Given the description of an element on the screen output the (x, y) to click on. 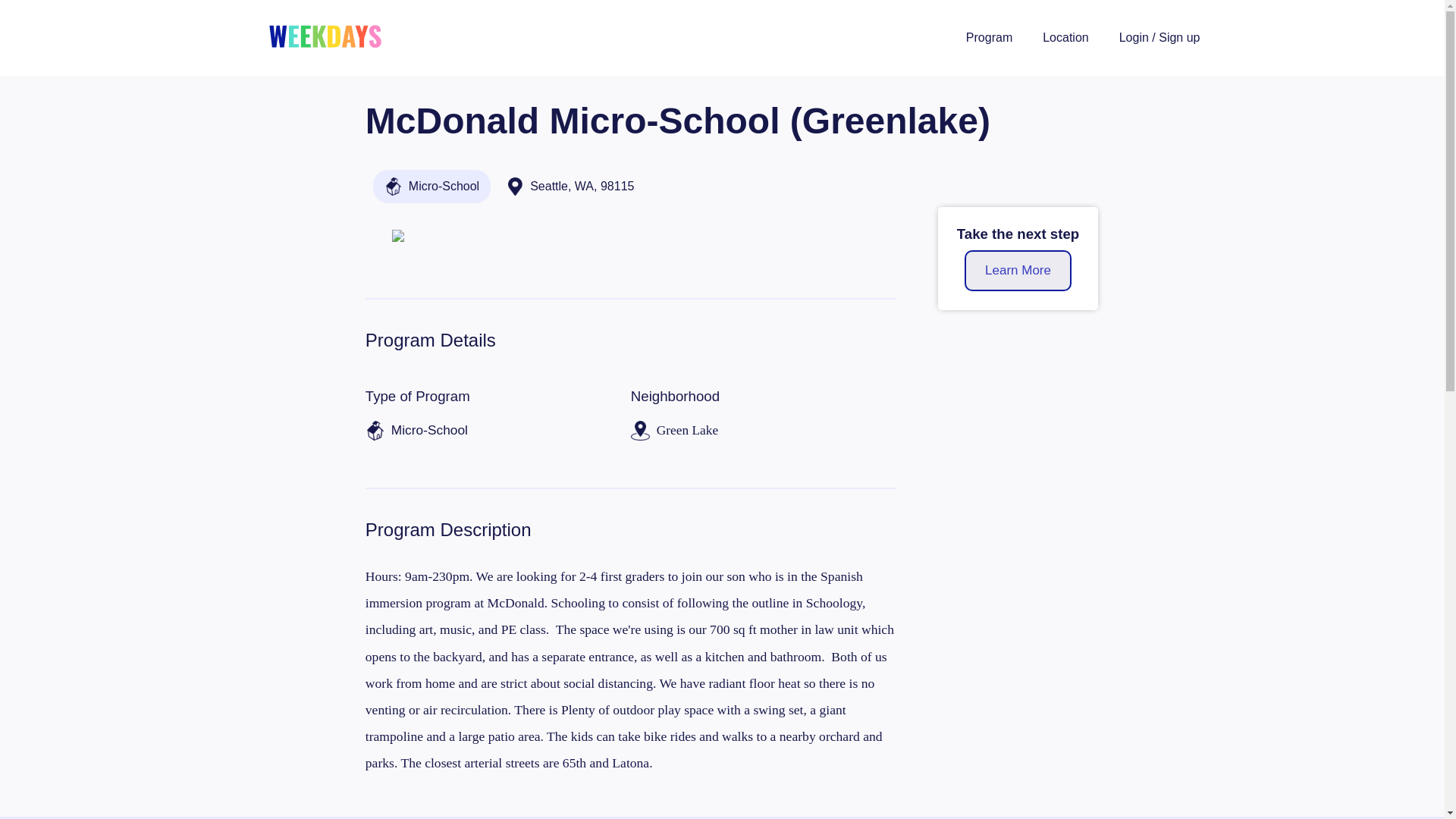
Learn More (1017, 270)
Program (988, 38)
Location (1065, 38)
Sign up (1178, 37)
Login (1133, 37)
